Given the description of an element on the screen output the (x, y) to click on. 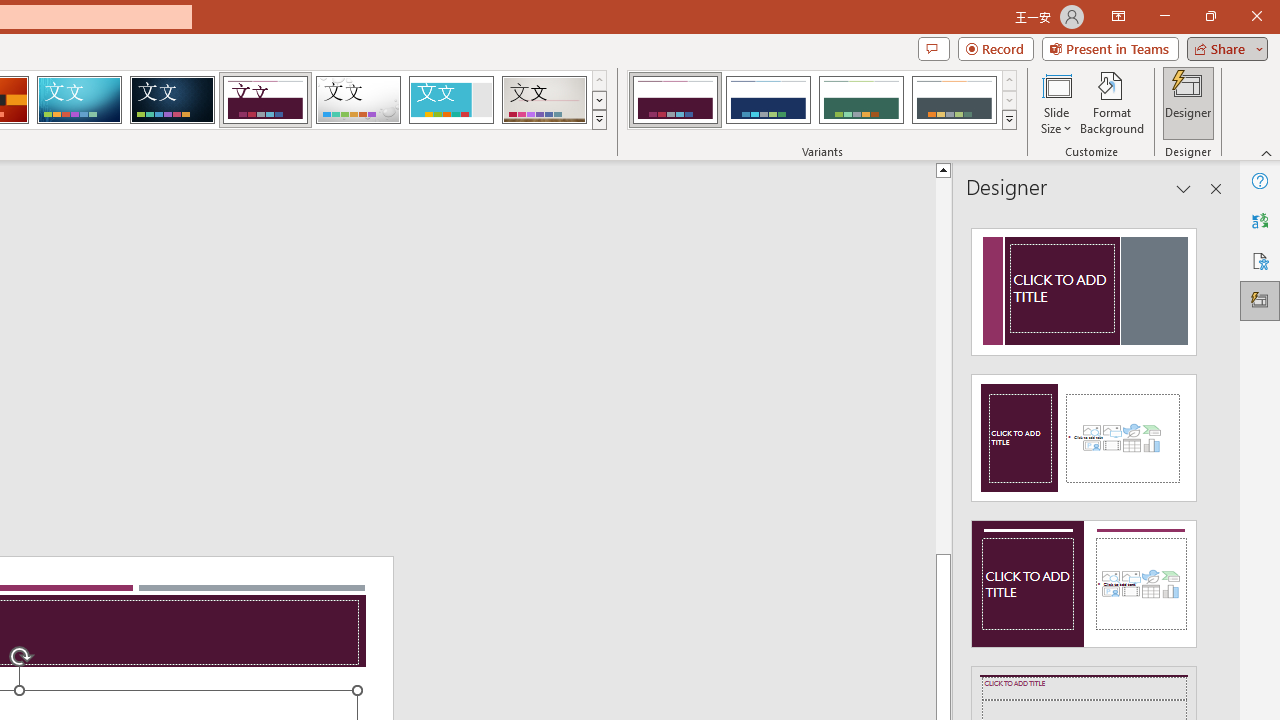
Dividend Variant 4 (953, 100)
Dividend Variant 1 (674, 100)
AutomationID: ThemeVariantsGallery (822, 99)
Gallery (544, 100)
